Given the description of an element on the screen output the (x, y) to click on. 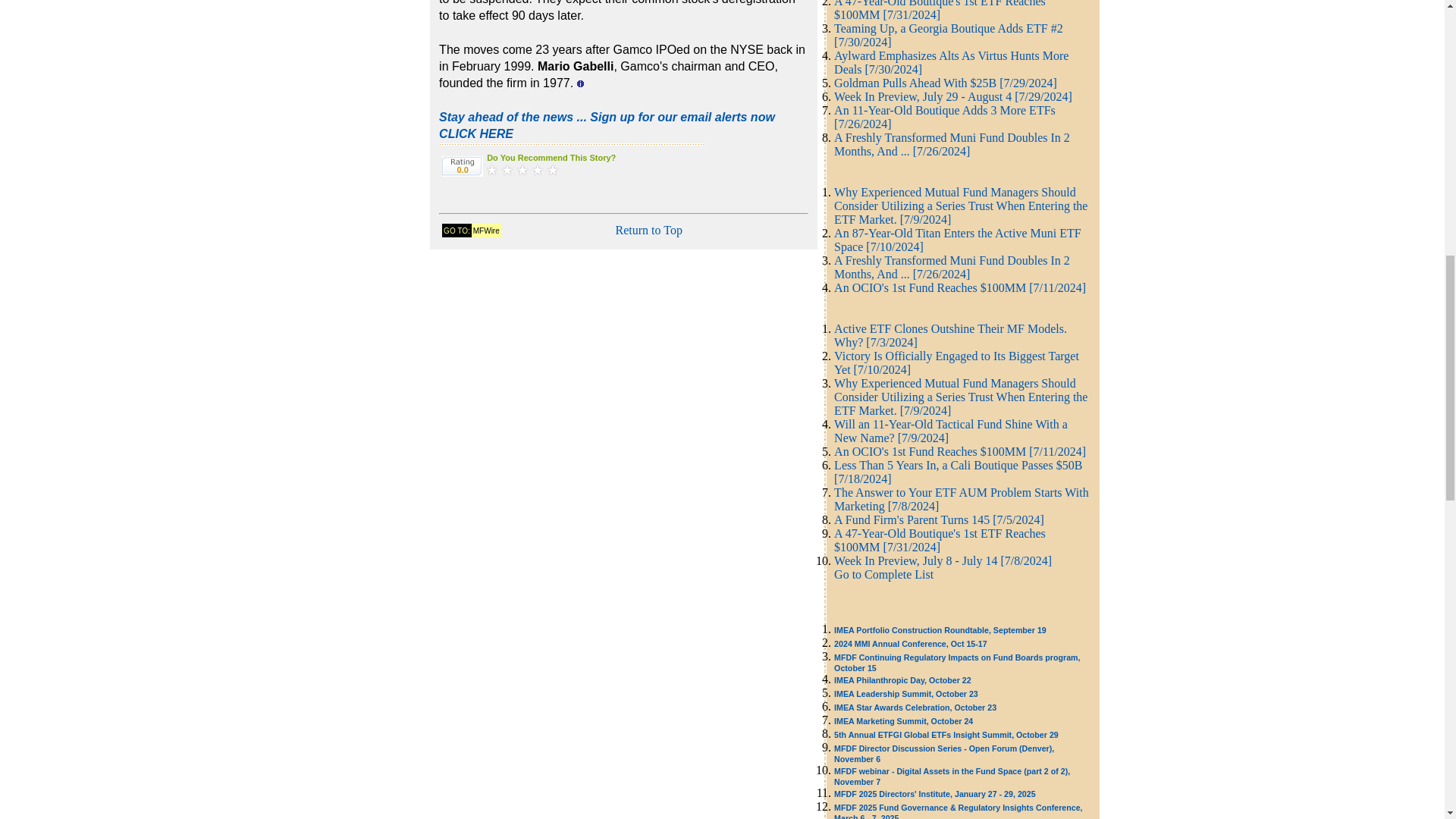
3 (522, 169)
2 (507, 169)
1 (491, 169)
For Fund News Junkies Only - 2 stars (507, 169)
Write More Like This - 3 stars (522, 169)
4 (536, 169)
Even to My Boss - 4 stars (536, 169)
MFWire (486, 228)
Excellent Story - 5 stars (552, 169)
5 (552, 169)
